Given the description of an element on the screen output the (x, y) to click on. 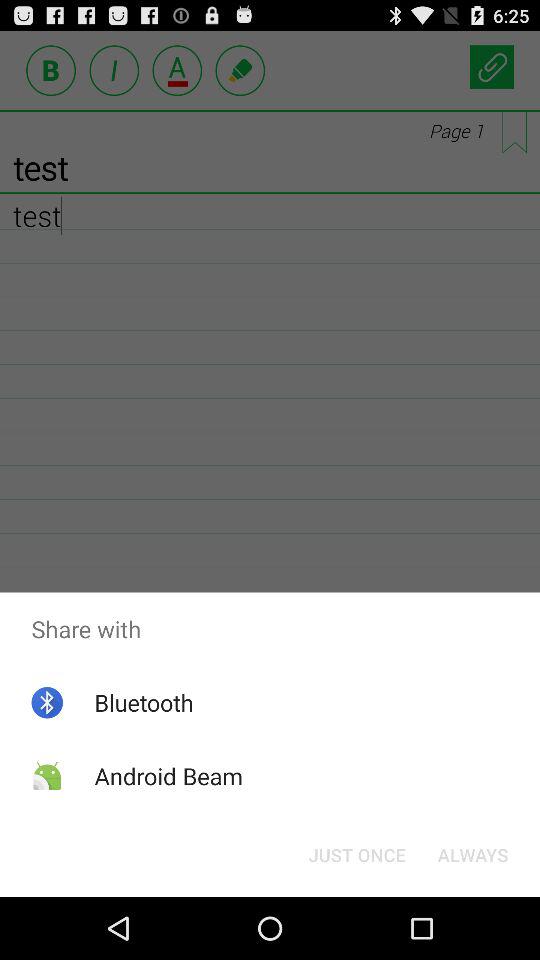
press item below the share with item (356, 854)
